Given the description of an element on the screen output the (x, y) to click on. 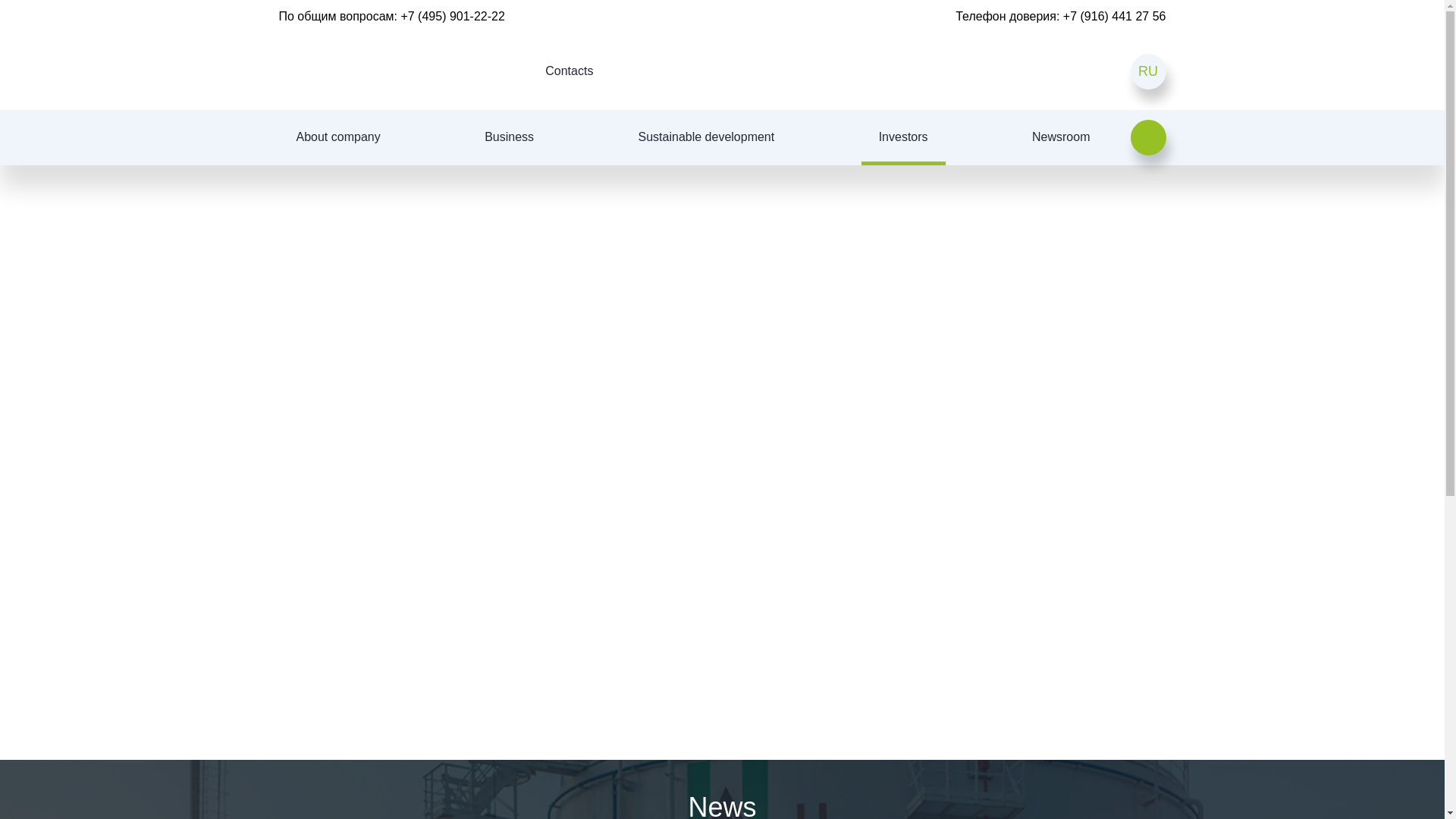
Business (509, 137)
Contacts (568, 71)
Sustainable development (706, 137)
About company (338, 137)
RU (1147, 71)
Investors (902, 137)
Newsroom (1060, 137)
